Given the description of an element on the screen output the (x, y) to click on. 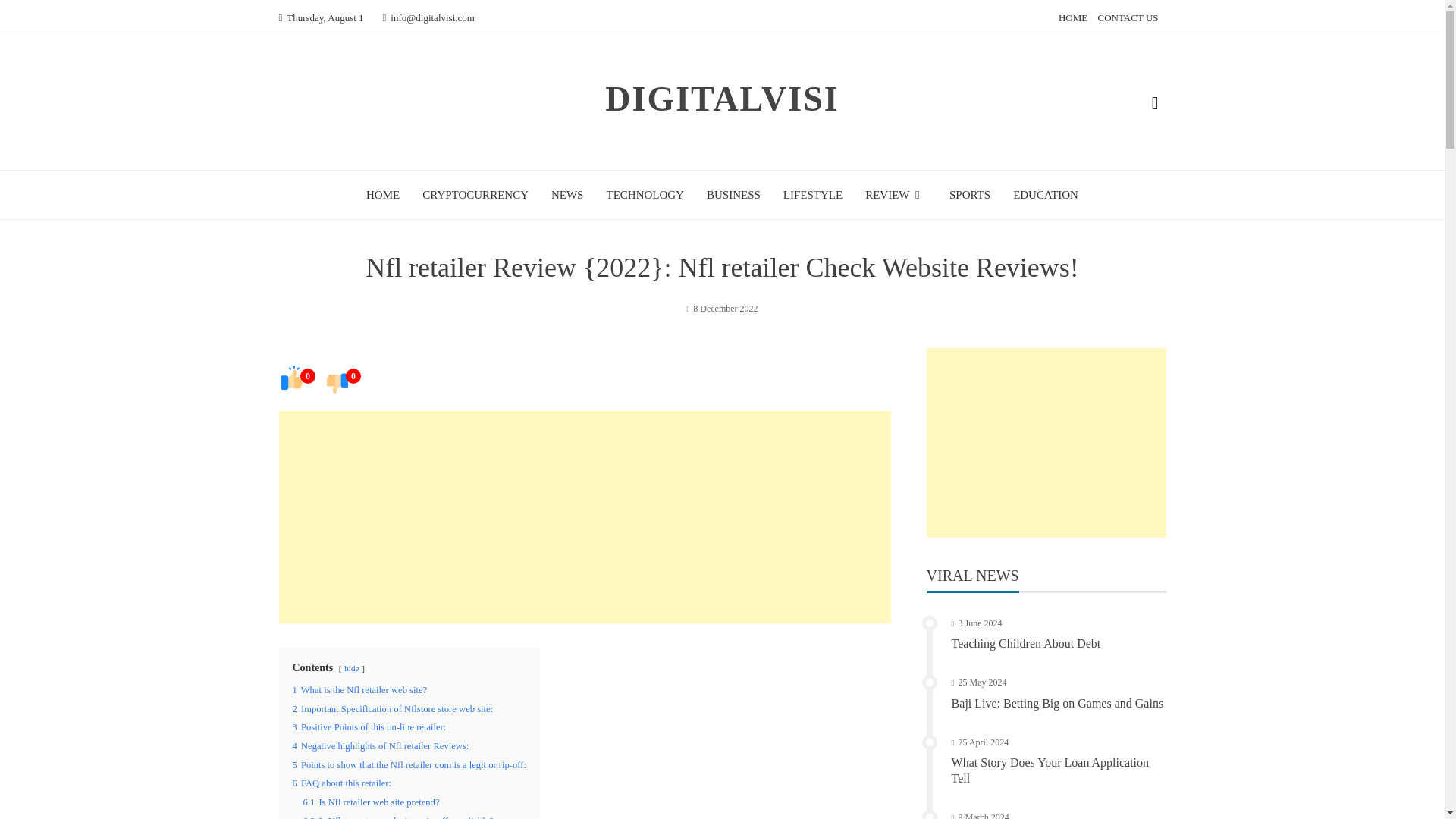
3 Positive Points of this on-line retailer: (369, 726)
HOME (382, 194)
1 What is the Nfl retailer web site? (360, 689)
6.1 Is Nfl retailer web site pretend? (370, 801)
BUSINESS (733, 194)
CONTACT US (1127, 17)
6 FAQ about this retailer: (341, 783)
DIGITALVISI (721, 98)
NEWS (567, 194)
EDUCATION (1045, 194)
4 Negative highlights of Nfl retailer Reviews: (380, 746)
SPORTS (969, 194)
Advertisement (1046, 442)
hide (350, 667)
